Given the description of an element on the screen output the (x, y) to click on. 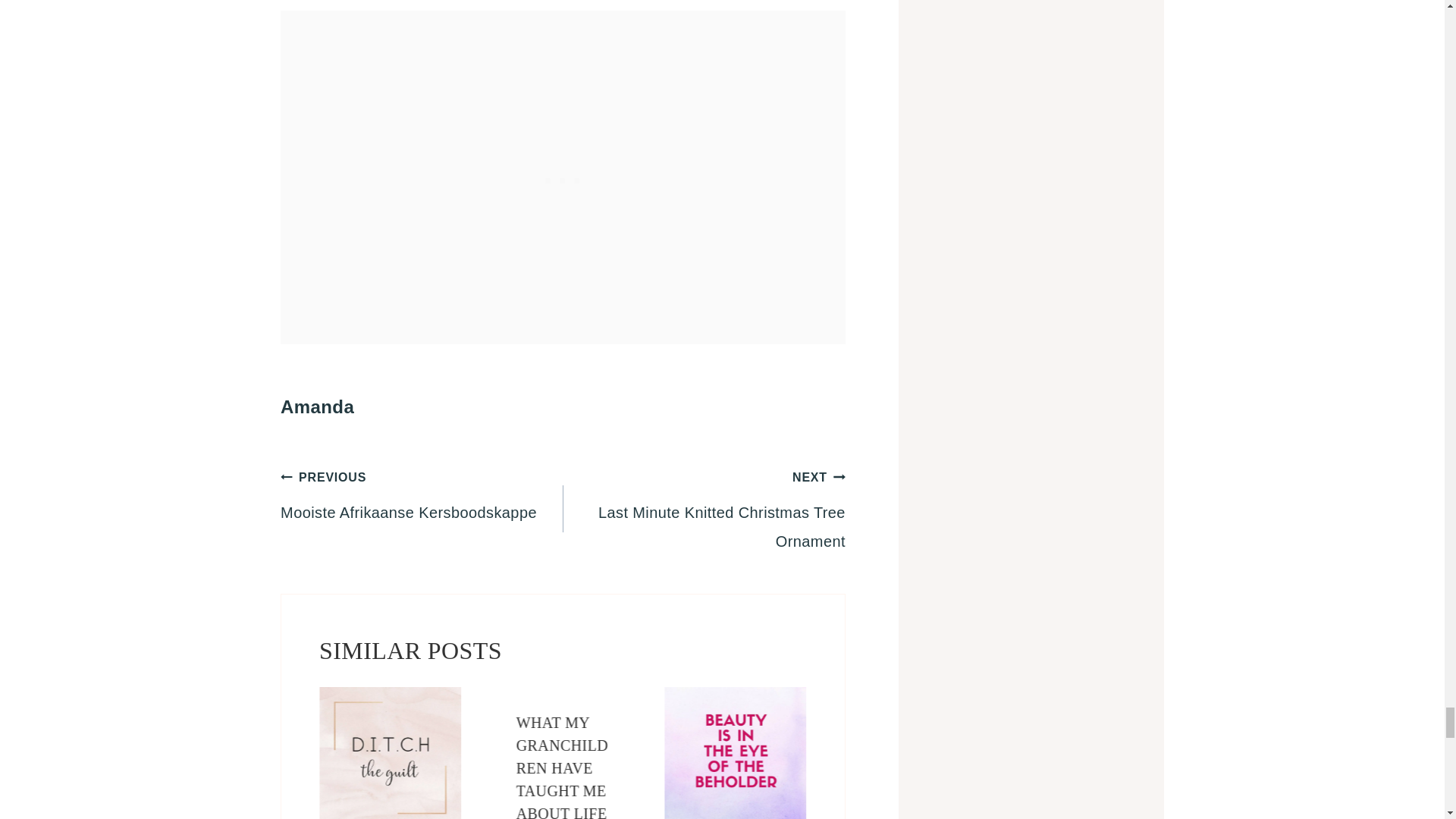
Posts by Amanda (317, 406)
